Given the description of an element on the screen output the (x, y) to click on. 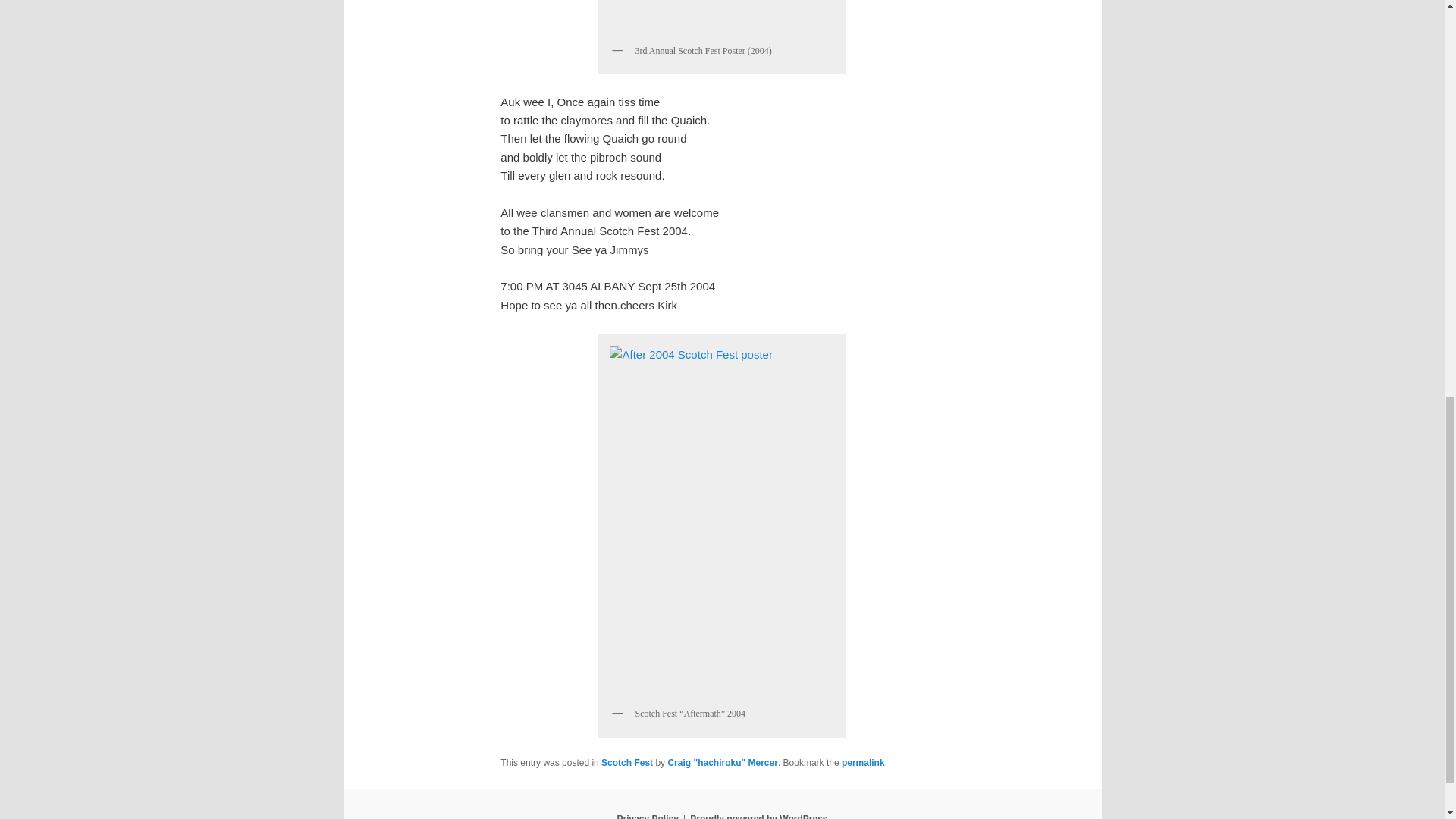
Scotch Fest (626, 762)
Craig "hachiroku" Mercer (721, 762)
permalink (863, 762)
Privacy Policy (646, 816)
Proudly powered by WordPress (758, 816)
Permalink to Scotch Fest 2004 (863, 762)
Semantic Personal Publishing Platform (758, 816)
